Given the description of an element on the screen output the (x, y) to click on. 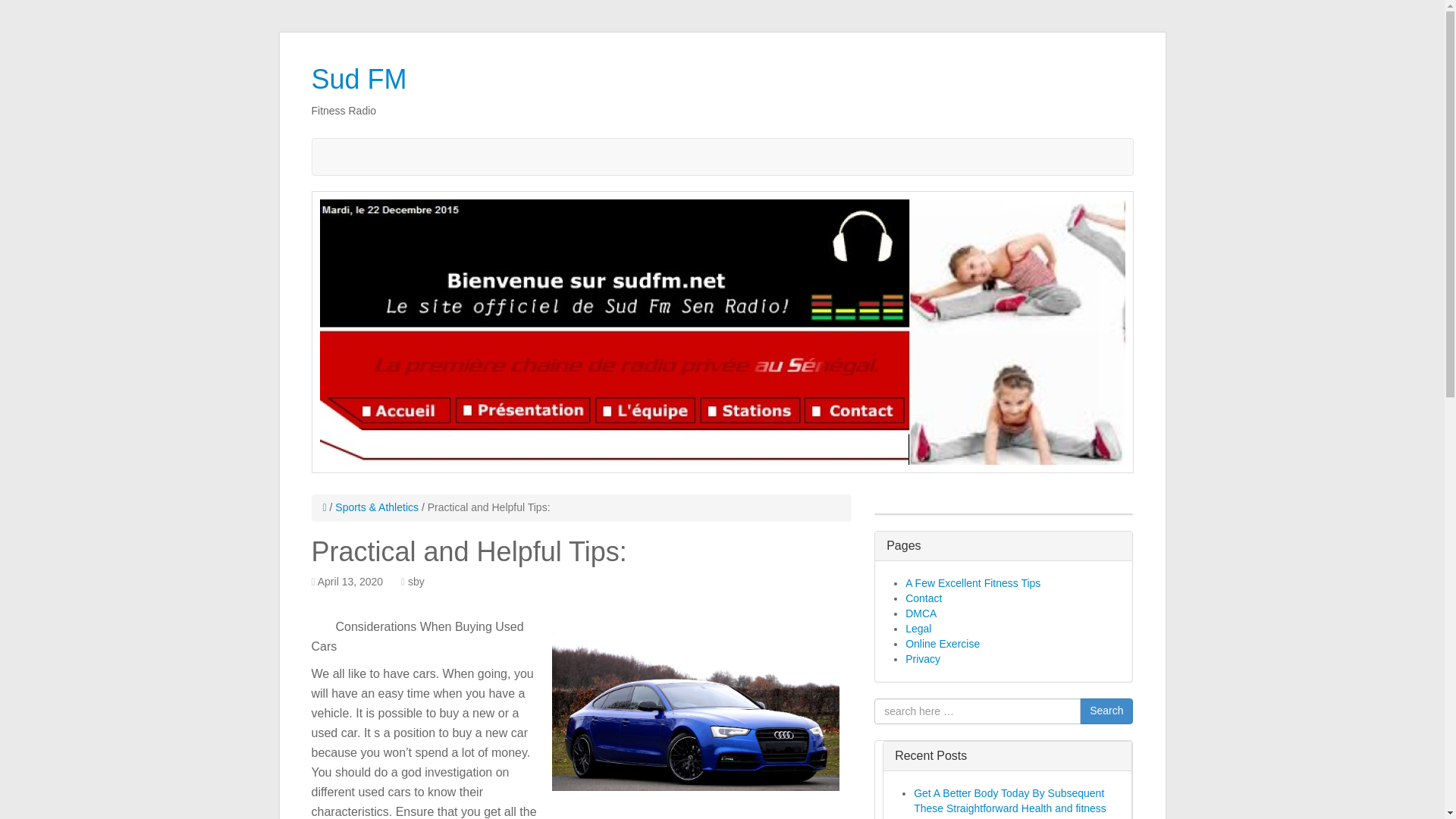
Contact (923, 598)
Sud FM (358, 79)
sby (416, 581)
DMCA (920, 613)
Online Exercise (942, 644)
A Few Excellent Fitness Tips (973, 582)
Privacy (922, 657)
Legal (918, 628)
Sud FM (358, 79)
April 13, 2020 (349, 581)
Search (1106, 710)
